Given the description of an element on the screen output the (x, y) to click on. 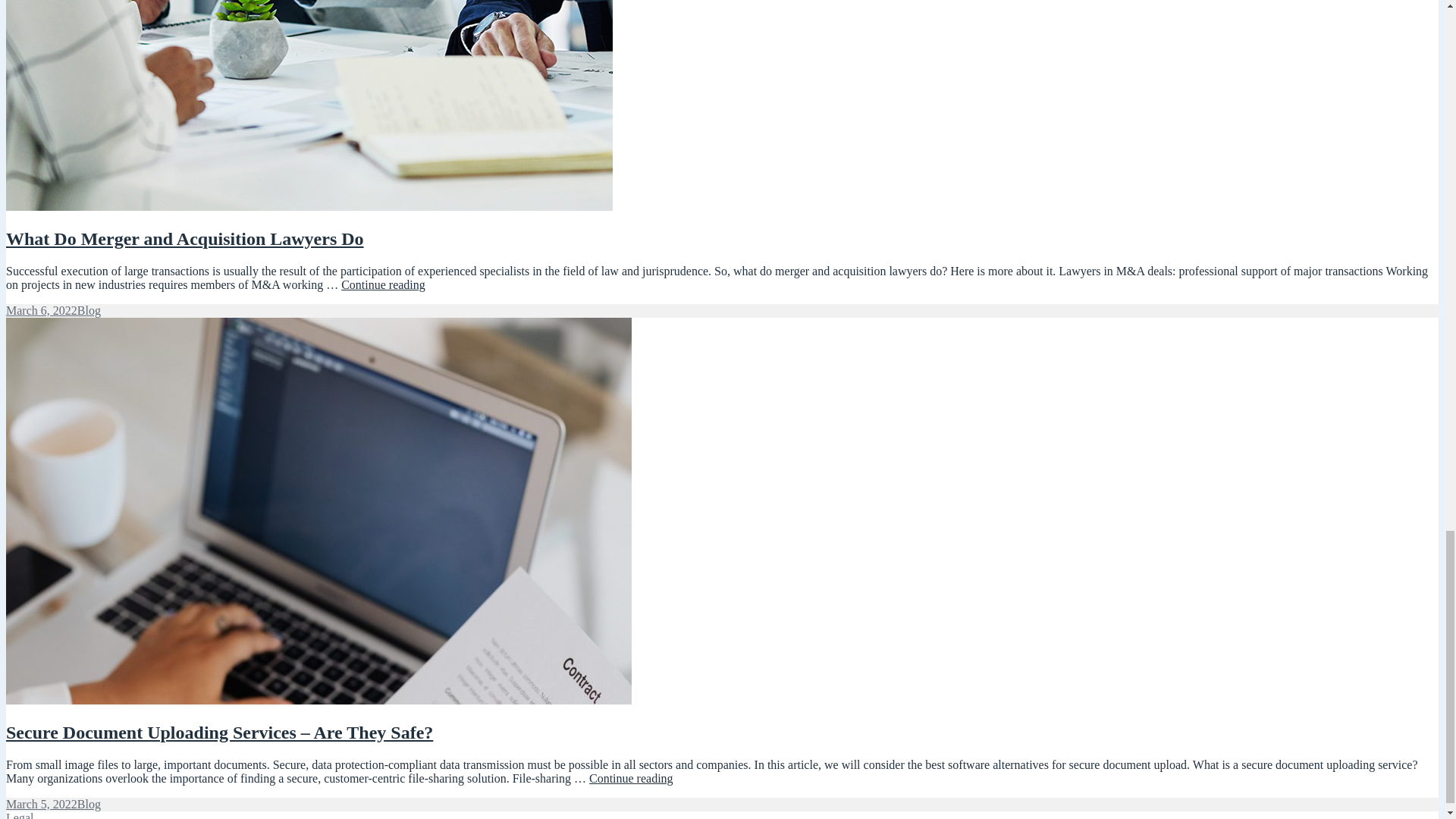
Blog (88, 309)
March 6, 2022 (41, 309)
March 5, 2022 (382, 284)
What Do Merger and Acquisition Lawyers Do (41, 803)
Blog (184, 238)
